Given the description of an element on the screen output the (x, y) to click on. 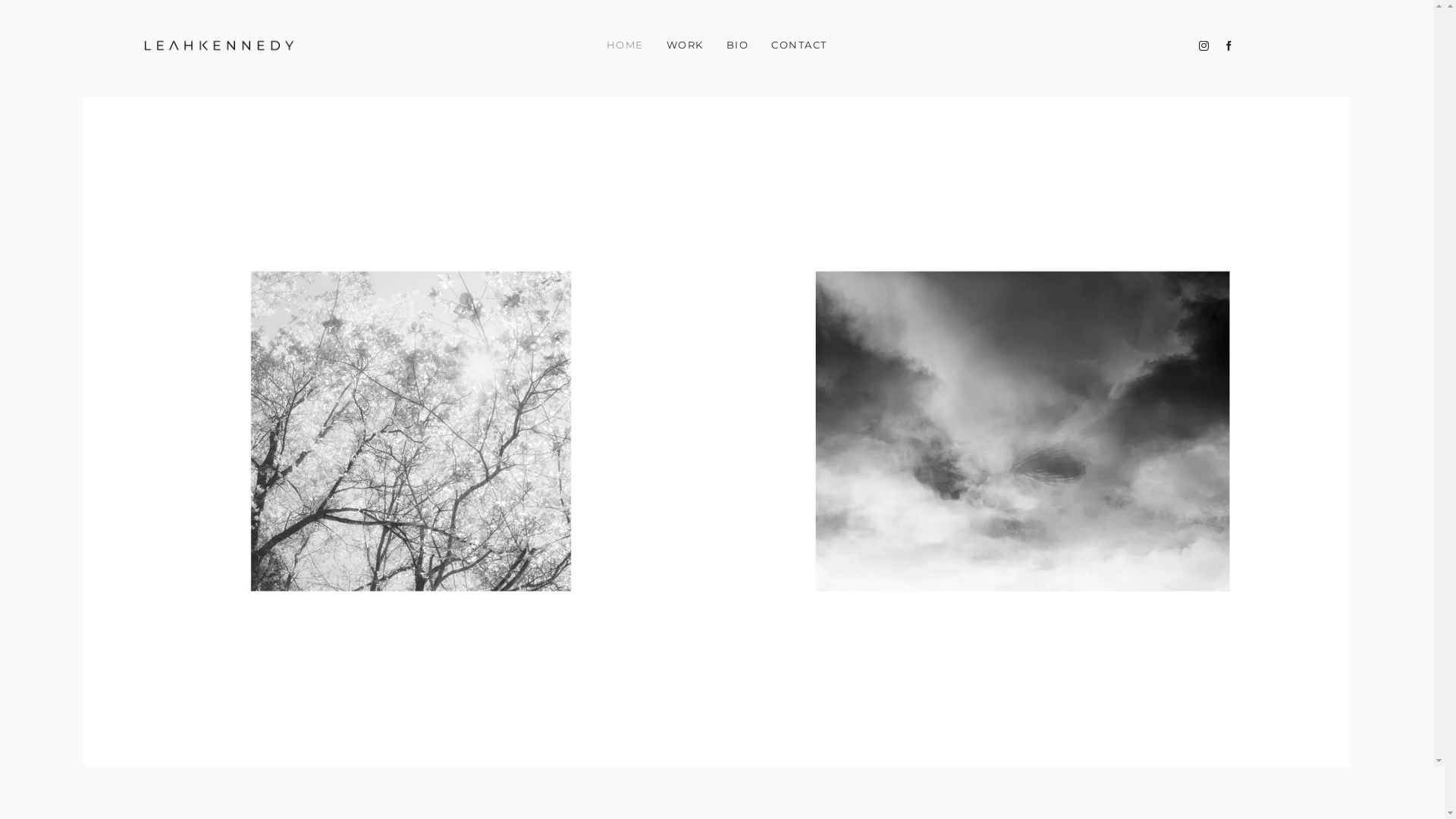
CONTACT Element type: text (798, 45)
WORK Element type: text (685, 45)
BIO Element type: text (736, 45)
Facebook Element type: hover (1228, 45)
HOME Element type: text (624, 45)
Instagram Element type: hover (1203, 45)
